Given the description of an element on the screen output the (x, y) to click on. 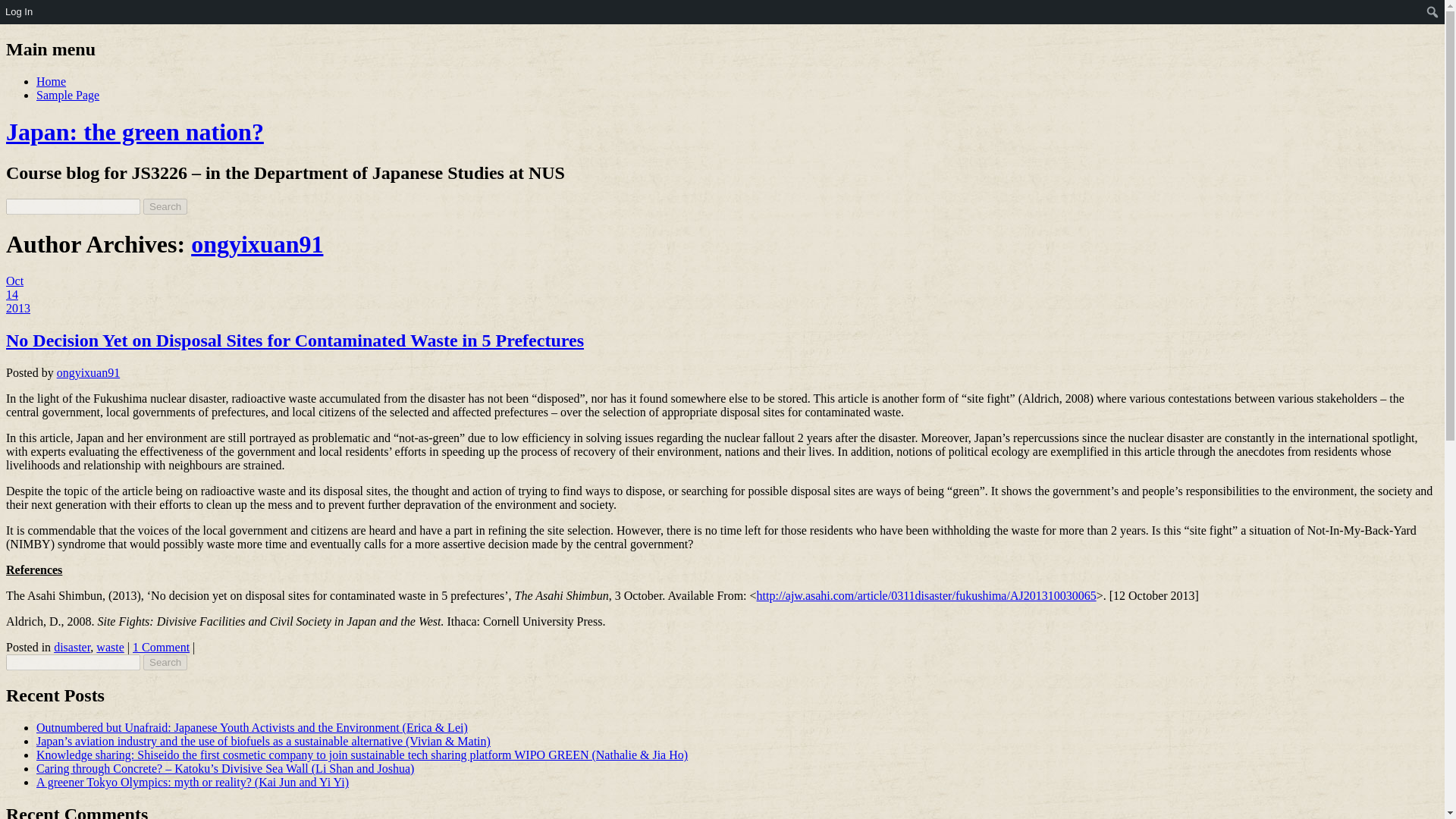
waste (109, 646)
ongyixuan91 (256, 243)
Search (164, 206)
Search (164, 662)
ongyixuan91 (256, 243)
2013 (17, 308)
Home (50, 81)
Search (164, 662)
Search (164, 206)
ongyixuan91 (88, 372)
1 Comment (160, 646)
